Given the description of an element on the screen output the (x, y) to click on. 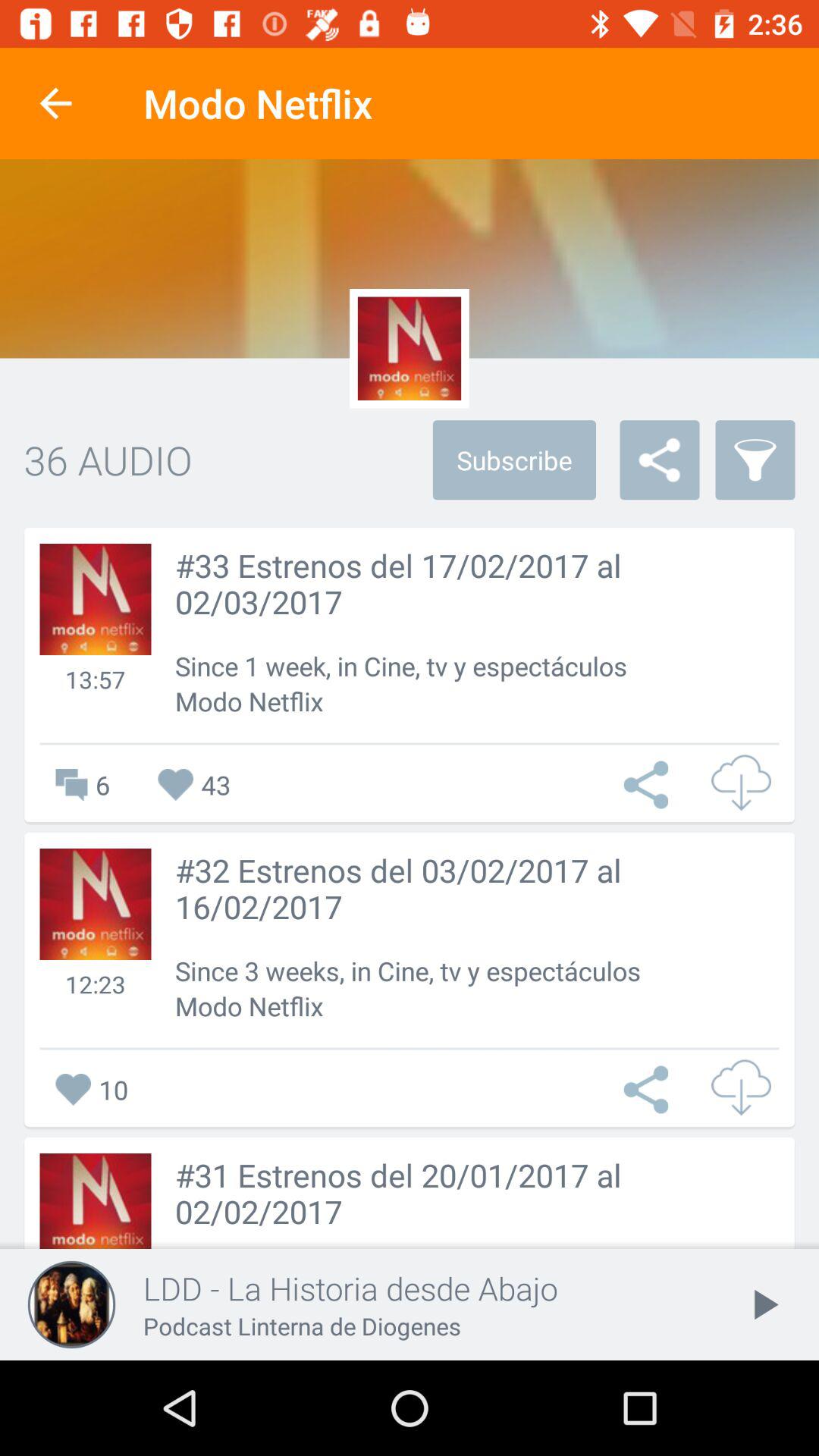
scroll to the subscribe item (514, 459)
